Given the description of an element on the screen output the (x, y) to click on. 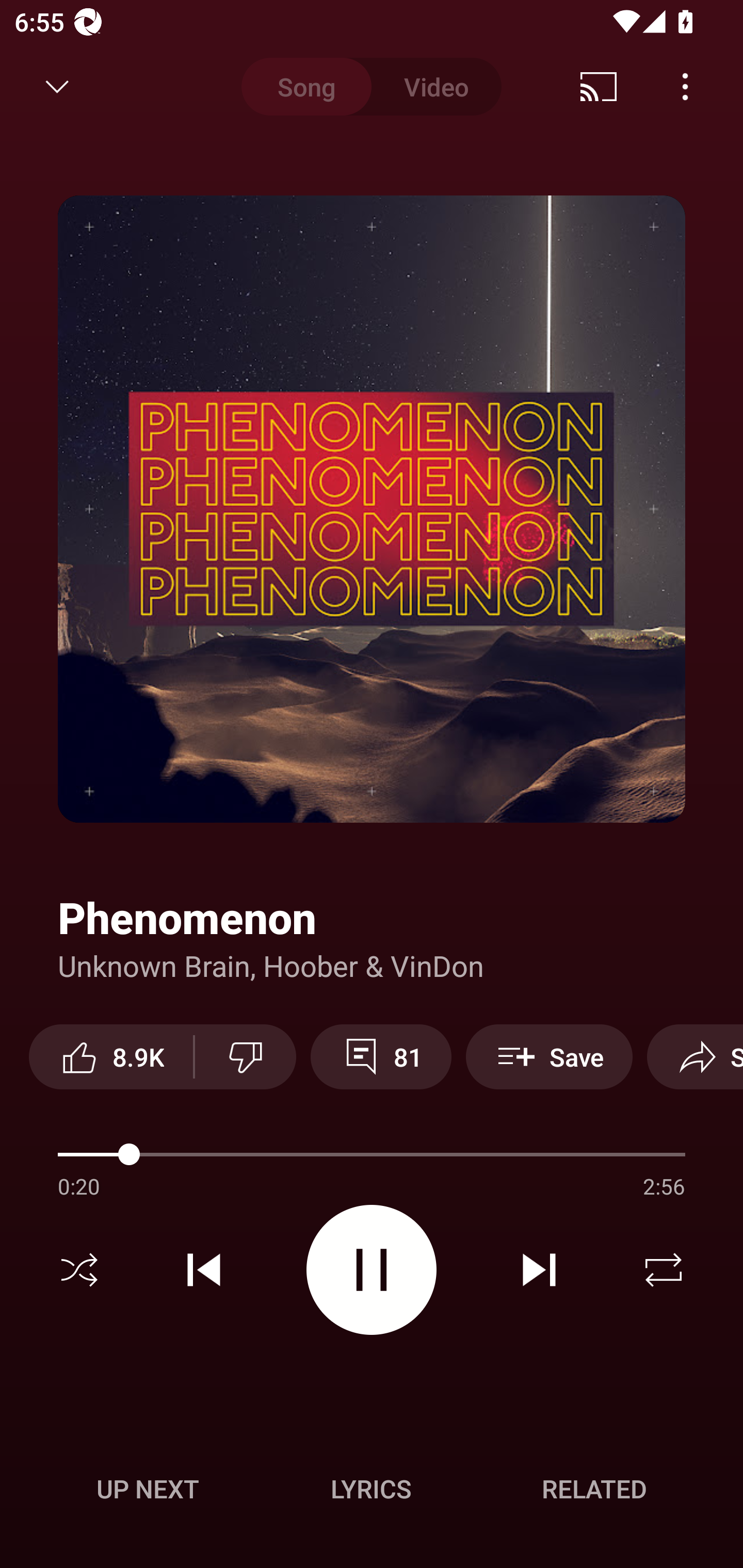
Minimize (57, 86)
Cast. Disconnected (598, 86)
Menu (684, 86)
8.9K like this video along with 8,972 other people (110, 1056)
Dislike (245, 1056)
81 View 81 comments (380, 1056)
Save Save to playlist (548, 1056)
Share (695, 1056)
Pause video (371, 1269)
Shuffle off (79, 1269)
Previous track (203, 1269)
Next track (538, 1269)
Repeat off (663, 1269)
Up next UP NEXT Lyrics LYRICS Related RELATED (371, 1491)
Lyrics LYRICS (370, 1488)
Related RELATED (594, 1488)
